Given the description of an element on the screen output the (x, y) to click on. 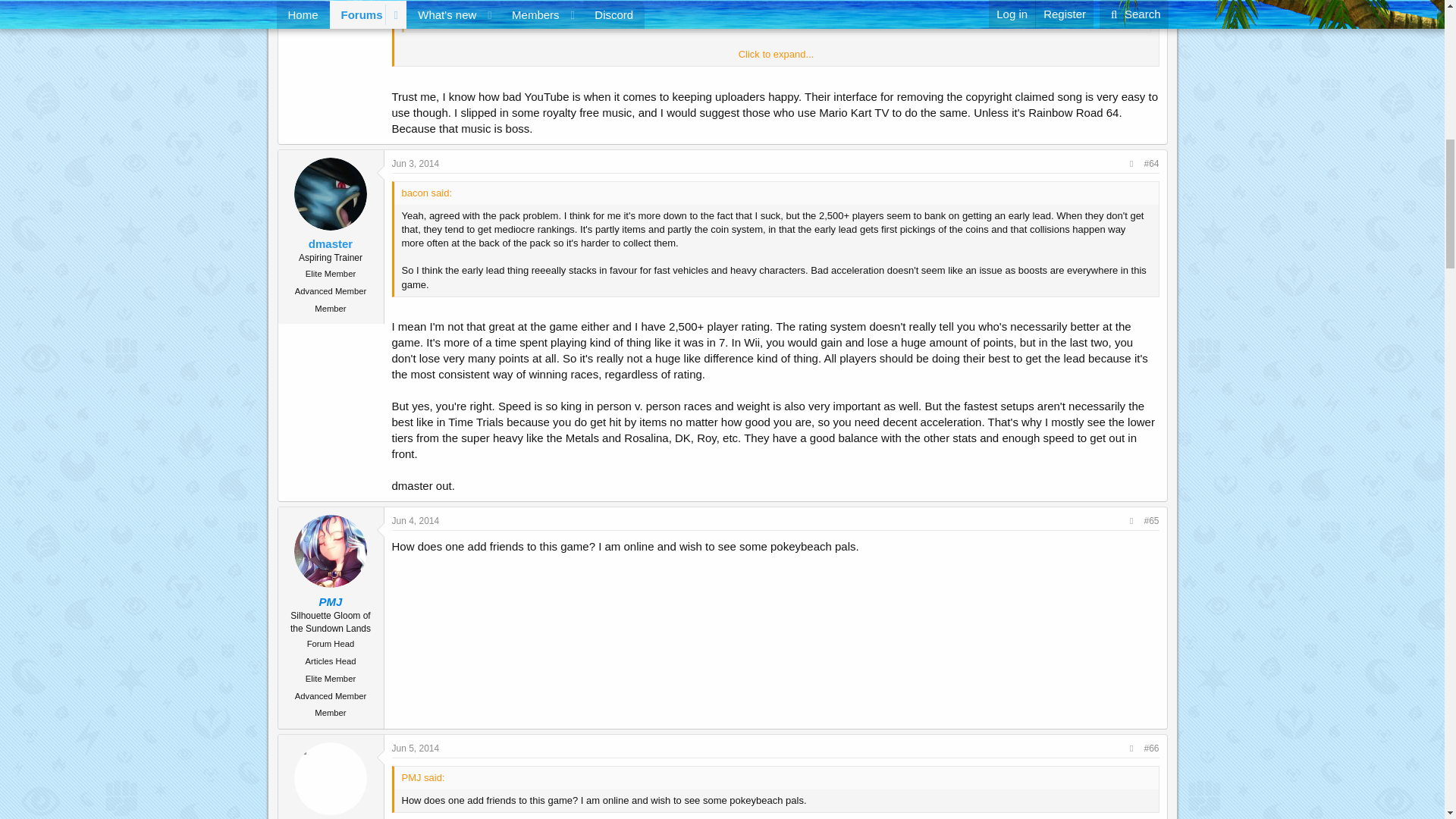
Jun 5, 2014 at 11:39 AM (415, 747)
Jun 4, 2014 at 9:16 PM (415, 520)
Jun 3, 2014 at 7:00 PM (415, 163)
